Given the description of an element on the screen output the (x, y) to click on. 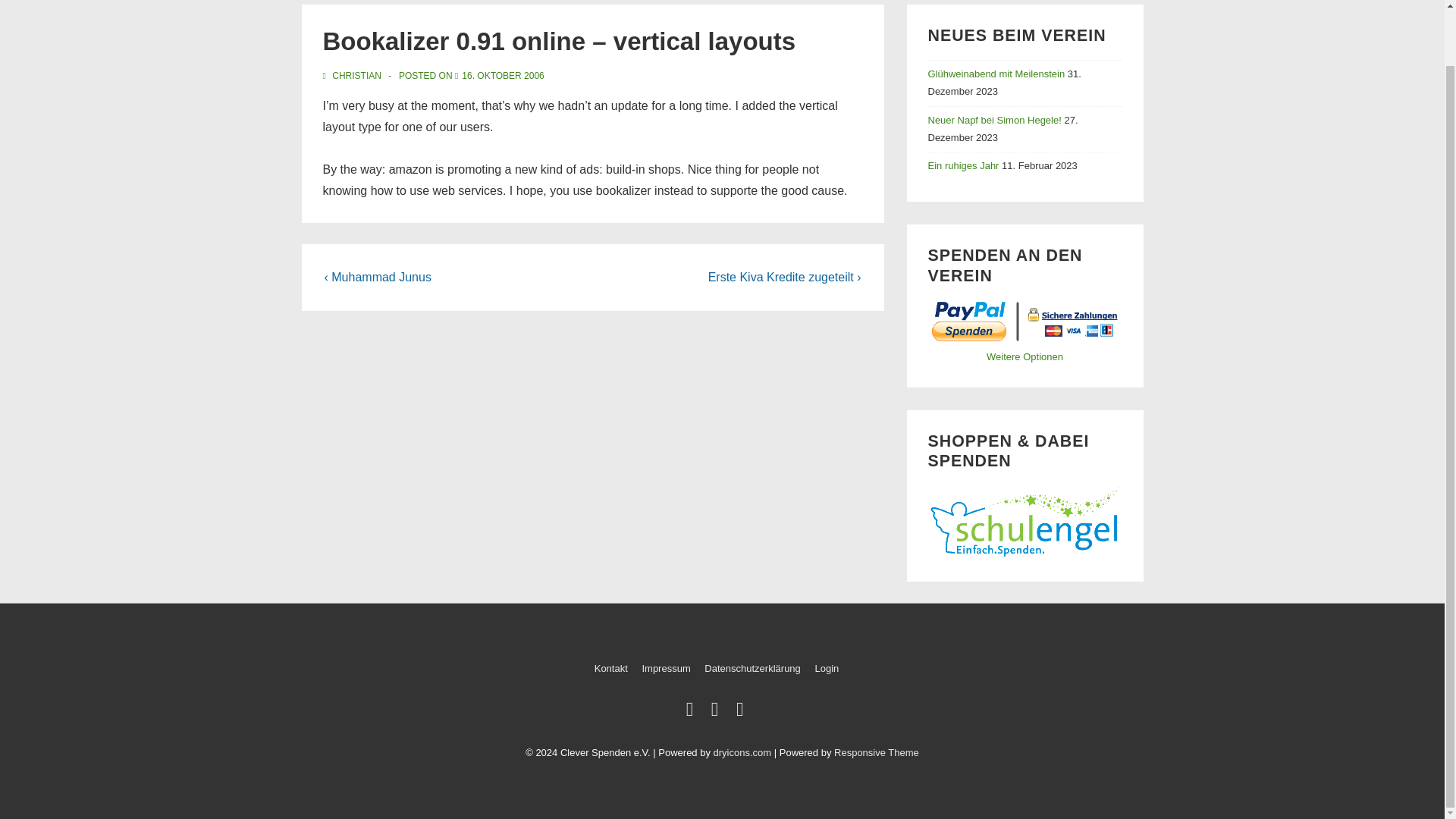
facebook (718, 712)
twitter (692, 712)
Kontakt (610, 667)
Neuer Napf bei Simon Hegele! (994, 120)
dryicons.com (742, 752)
Ein ruhiges Jahr (963, 165)
Login (825, 667)
Impressum (666, 667)
16. OKTOBER 2006 (502, 75)
Weitere Optionen (1024, 356)
Responsive Theme (876, 752)
CHRISTIAN (353, 75)
instagram (742, 712)
